Given the description of an element on the screen output the (x, y) to click on. 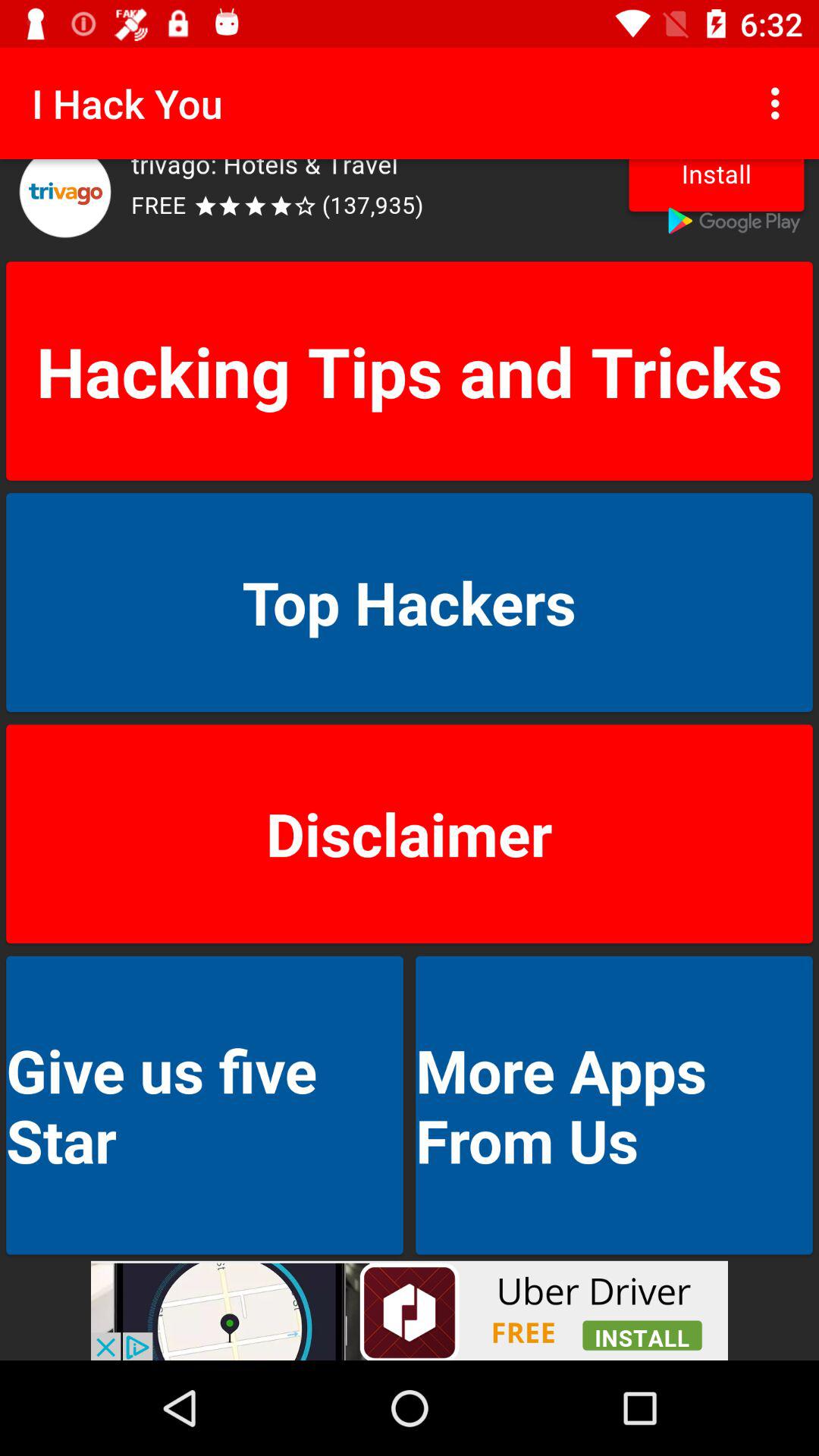
select hotels travels option (409, 207)
